Given the description of an element on the screen output the (x, y) to click on. 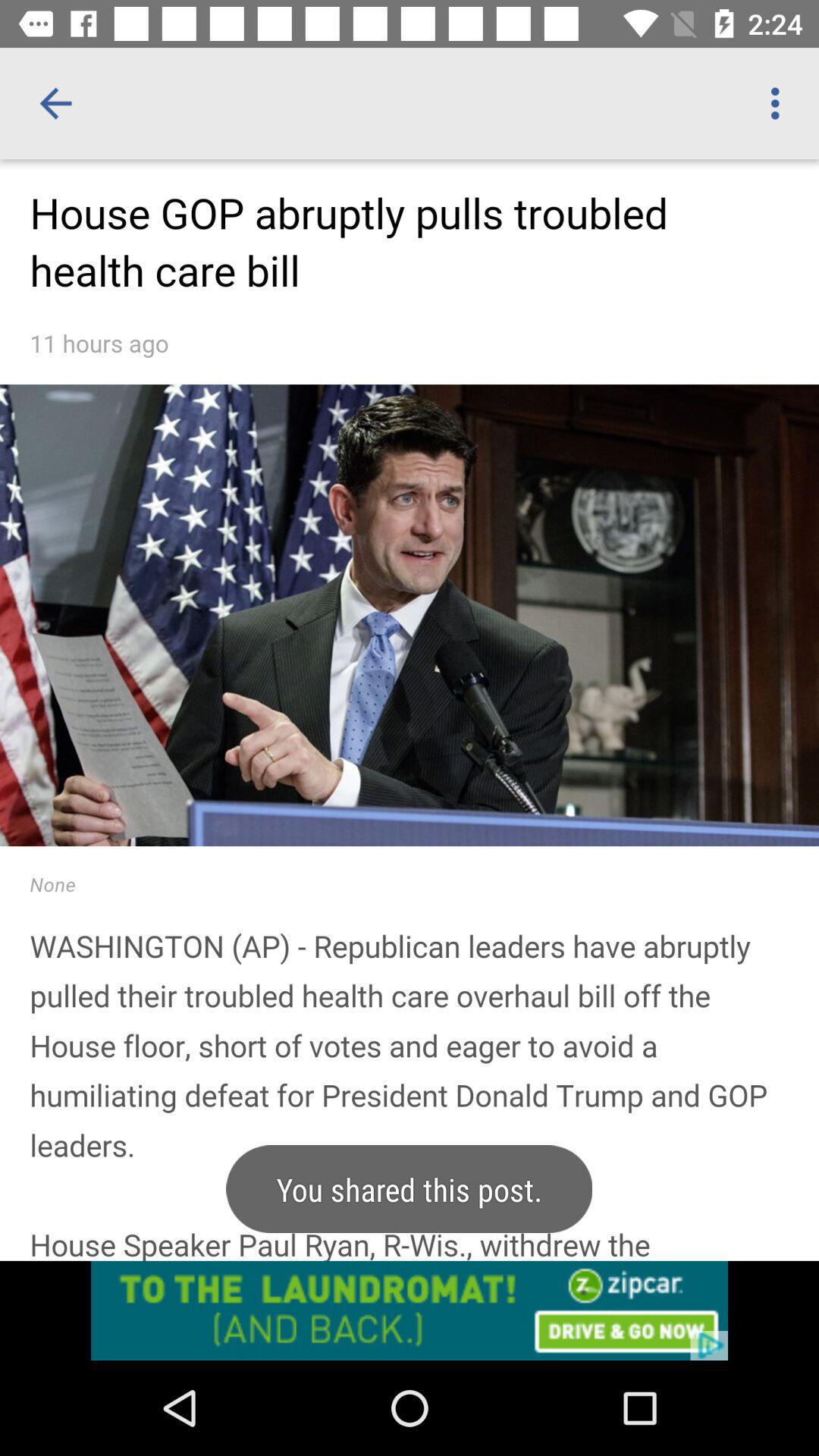
this is an advertisement (409, 1310)
